Given the description of an element on the screen output the (x, y) to click on. 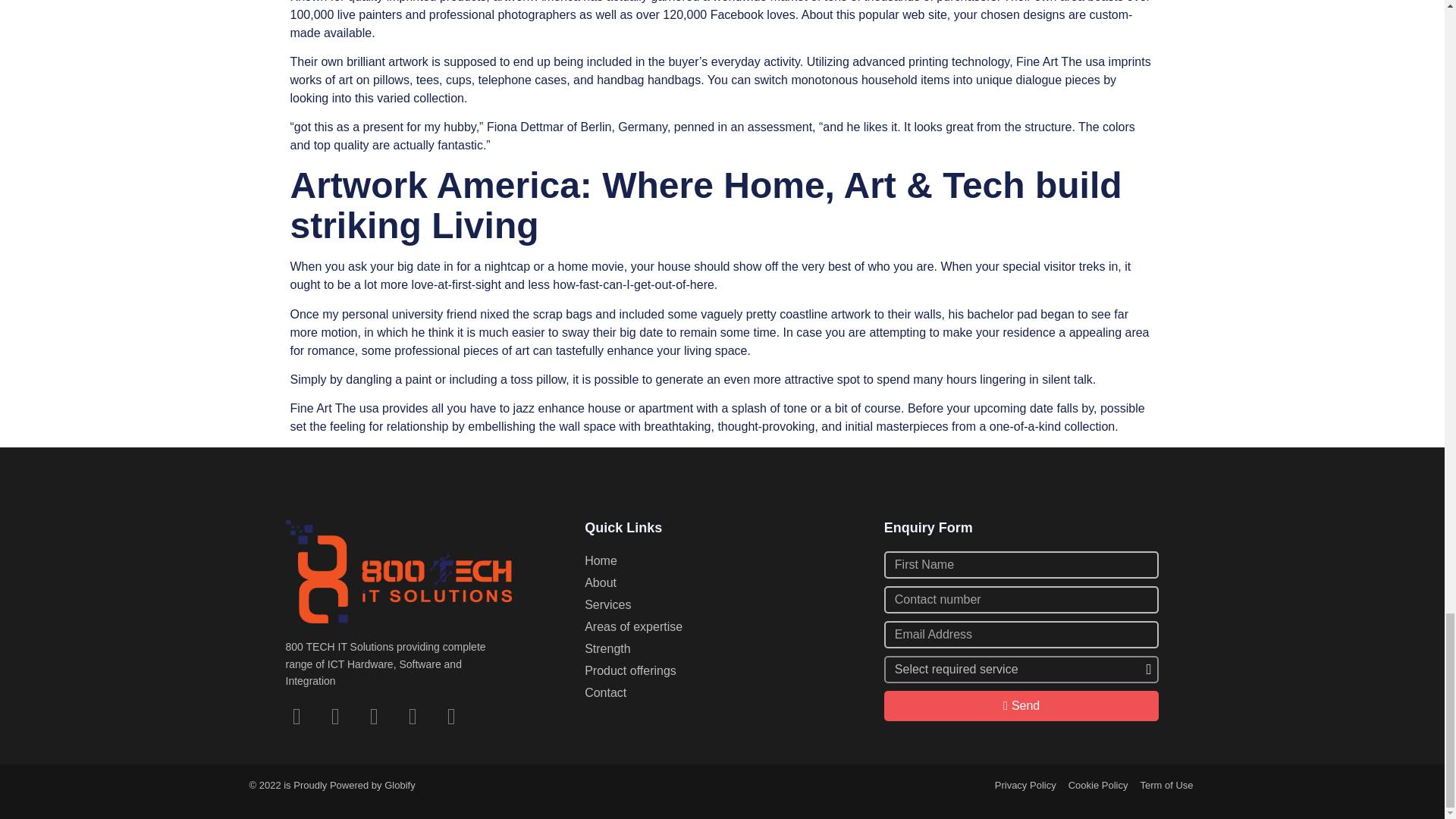
Services (722, 605)
Areas of expertise (722, 627)
Send (1020, 706)
Product offerings (722, 670)
Home (722, 561)
Privacy Policy (1025, 785)
Contact (722, 692)
About (722, 583)
Final Concept-1-3 (398, 572)
Strength (722, 648)
Cookie Policy (1098, 785)
